Given the description of an element on the screen output the (x, y) to click on. 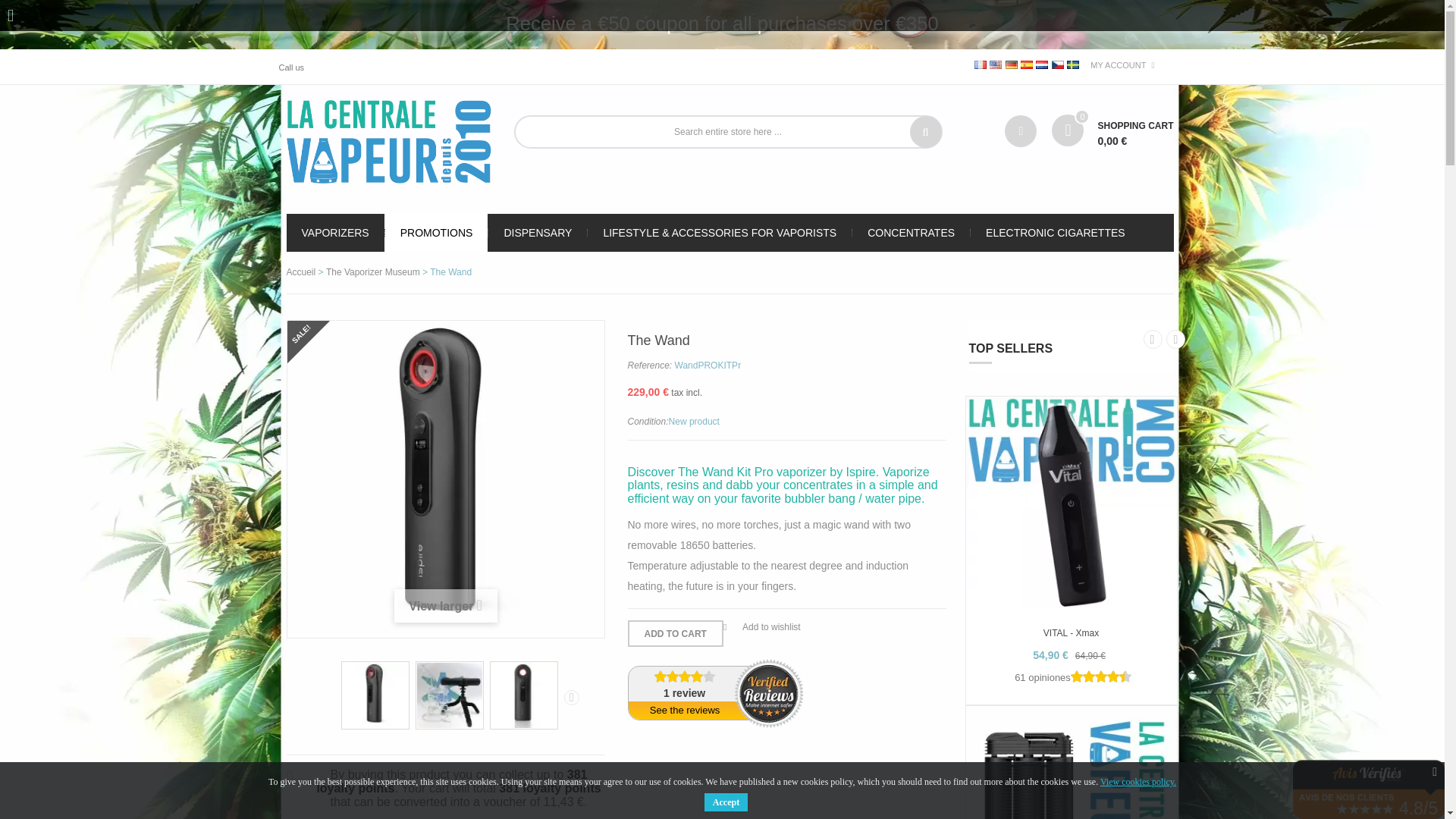
View my shopping cart (1112, 132)
Search (926, 132)
La Centrale Vapeur (389, 141)
Call us (297, 65)
My wishlist (1020, 131)
